Given the description of an element on the screen output the (x, y) to click on. 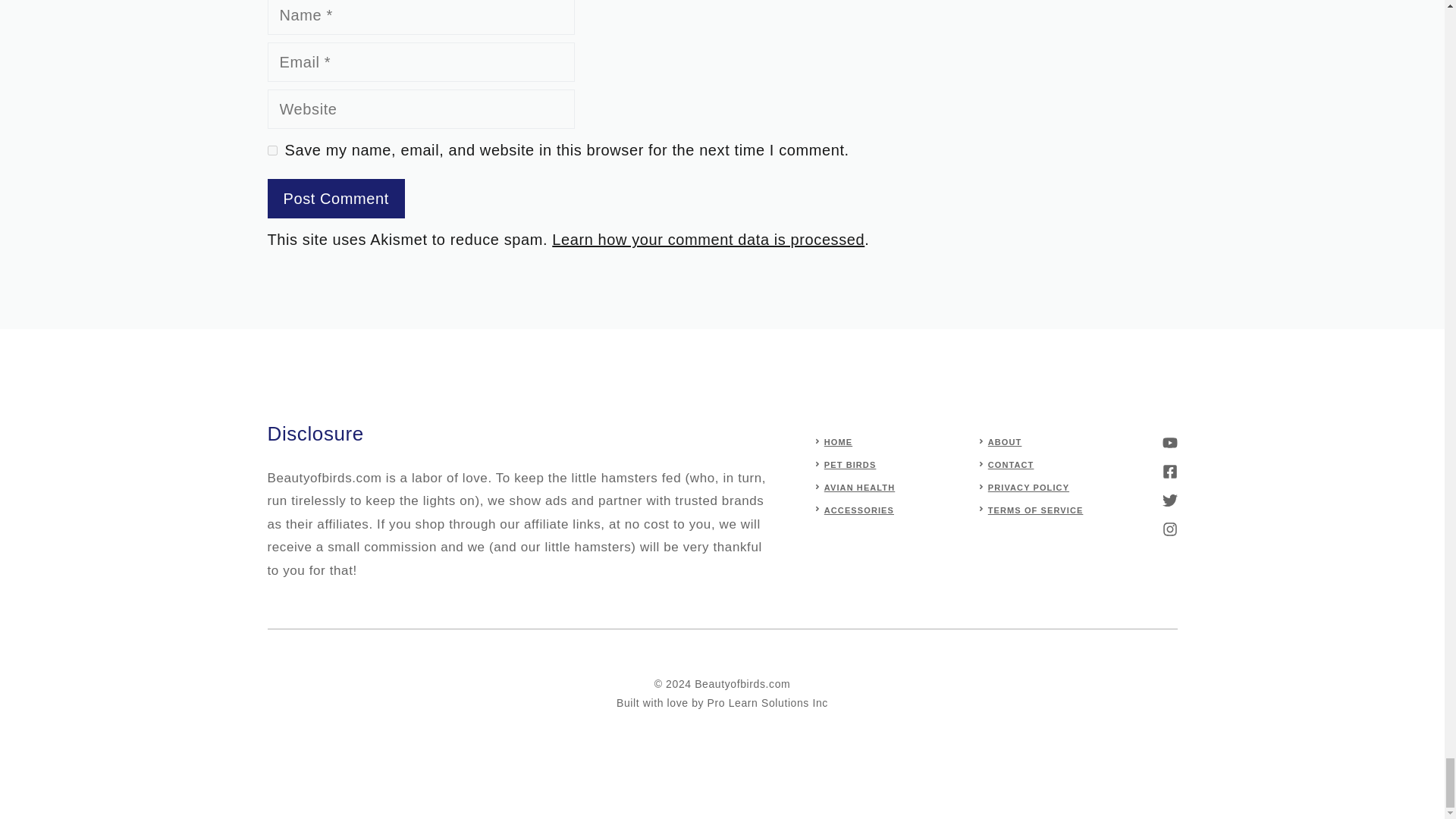
ACCESSORIES (858, 510)
Learn how your comment data is processed (707, 239)
yes (271, 150)
PRIVACY POLICY (1028, 487)
Post Comment (335, 198)
TERMS OF SERVICE (1035, 510)
HOME (837, 441)
CONTACT (1010, 464)
ABOUT (1005, 441)
PET BIRDS (850, 464)
